Given the description of an element on the screen output the (x, y) to click on. 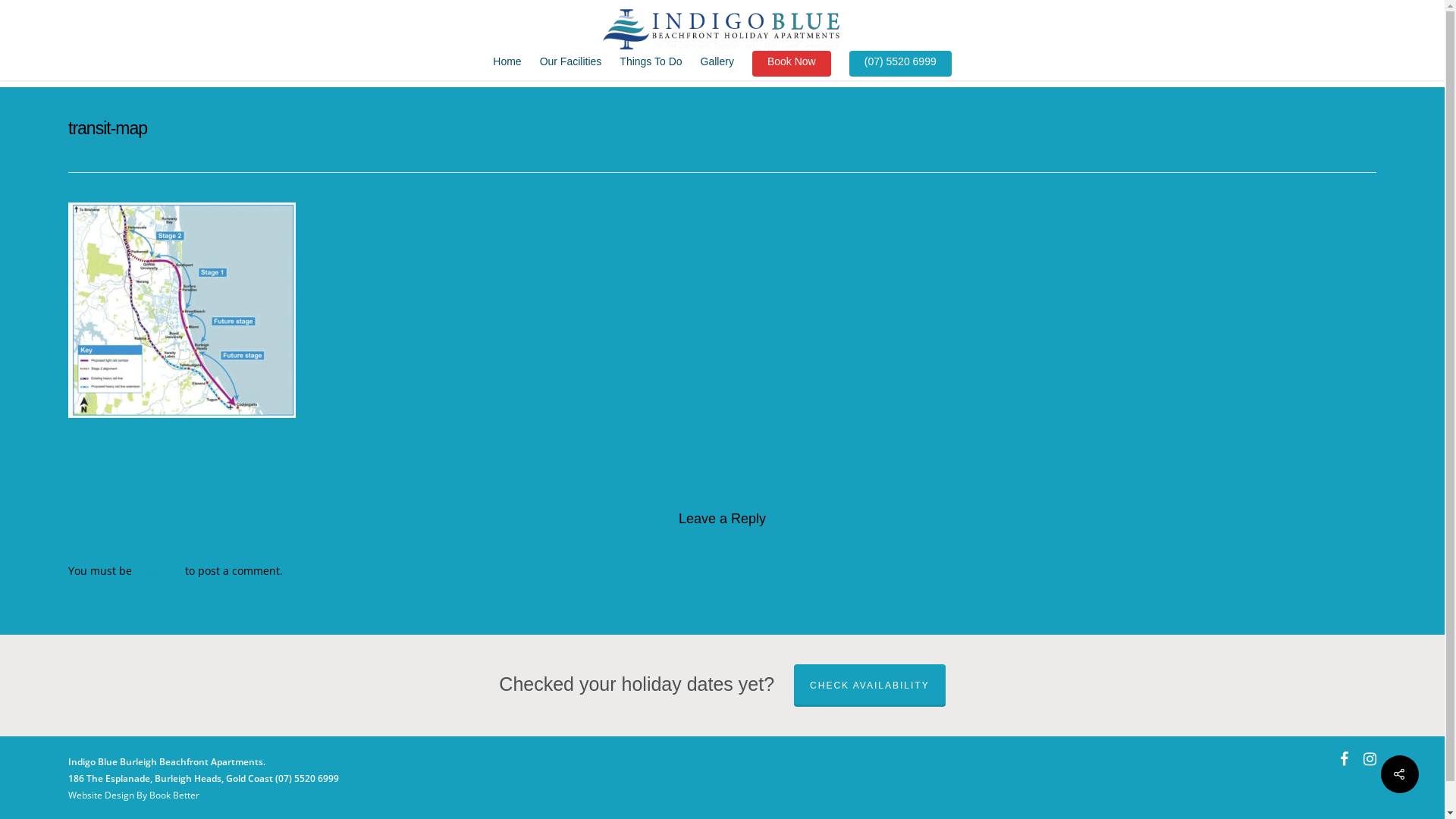
Home Element type: text (506, 68)
Book Now Element type: text (791, 68)
CHECK AVAILABILITY Element type: text (869, 685)
logged in Element type: text (158, 570)
Our Facilities Element type: text (570, 68)
(07) 5520 6999 Element type: text (900, 68)
Gallery Element type: text (717, 68)
Things To Do Element type: text (650, 68)
